Given the description of an element on the screen output the (x, y) to click on. 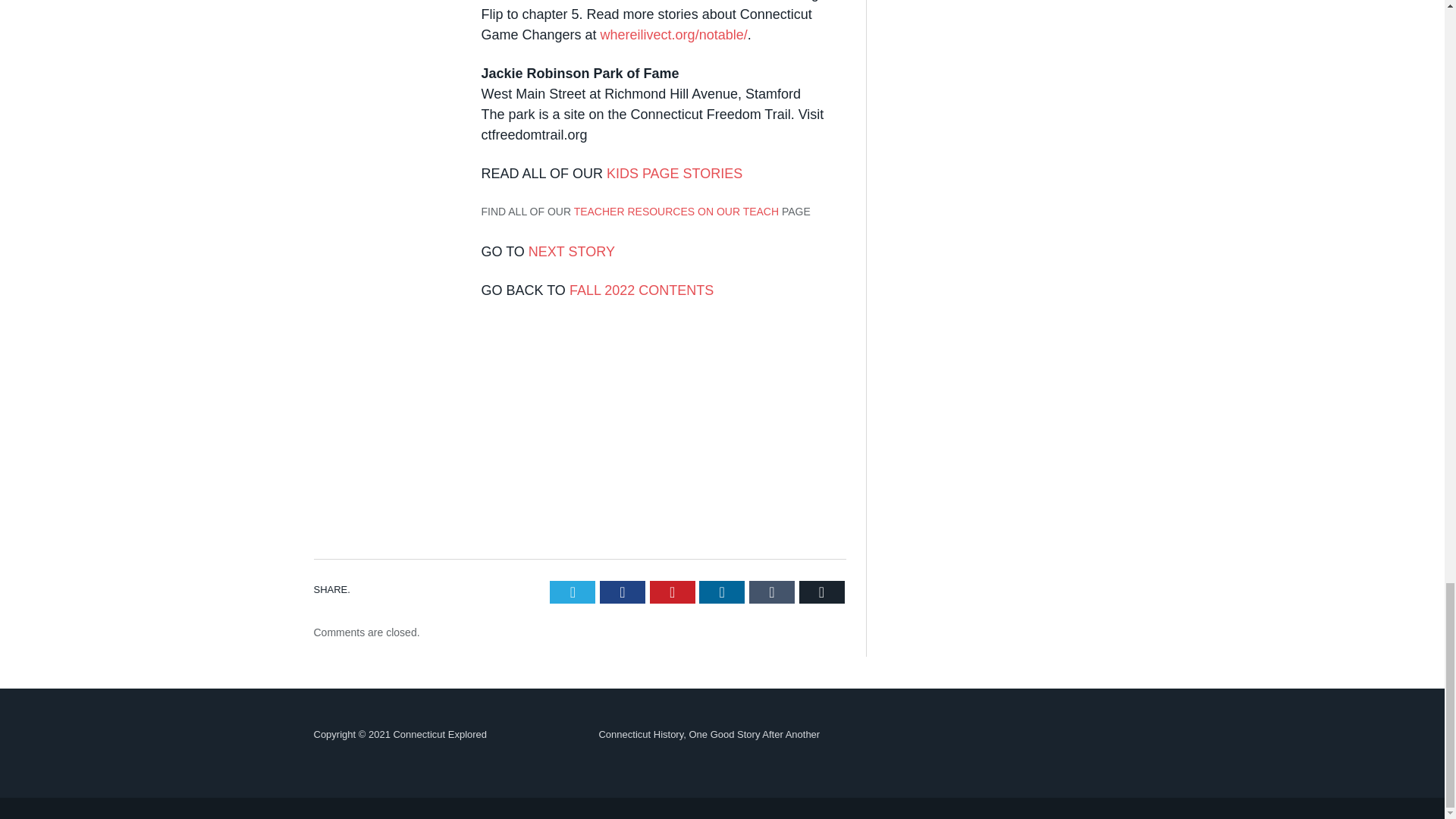
Share on LinkedIn (721, 591)
Tweet It (572, 591)
Share on Facebook (622, 591)
Share on Tumblr (771, 591)
Share on Pinterest (672, 591)
Share via Email (821, 591)
